Given the description of an element on the screen output the (x, y) to click on. 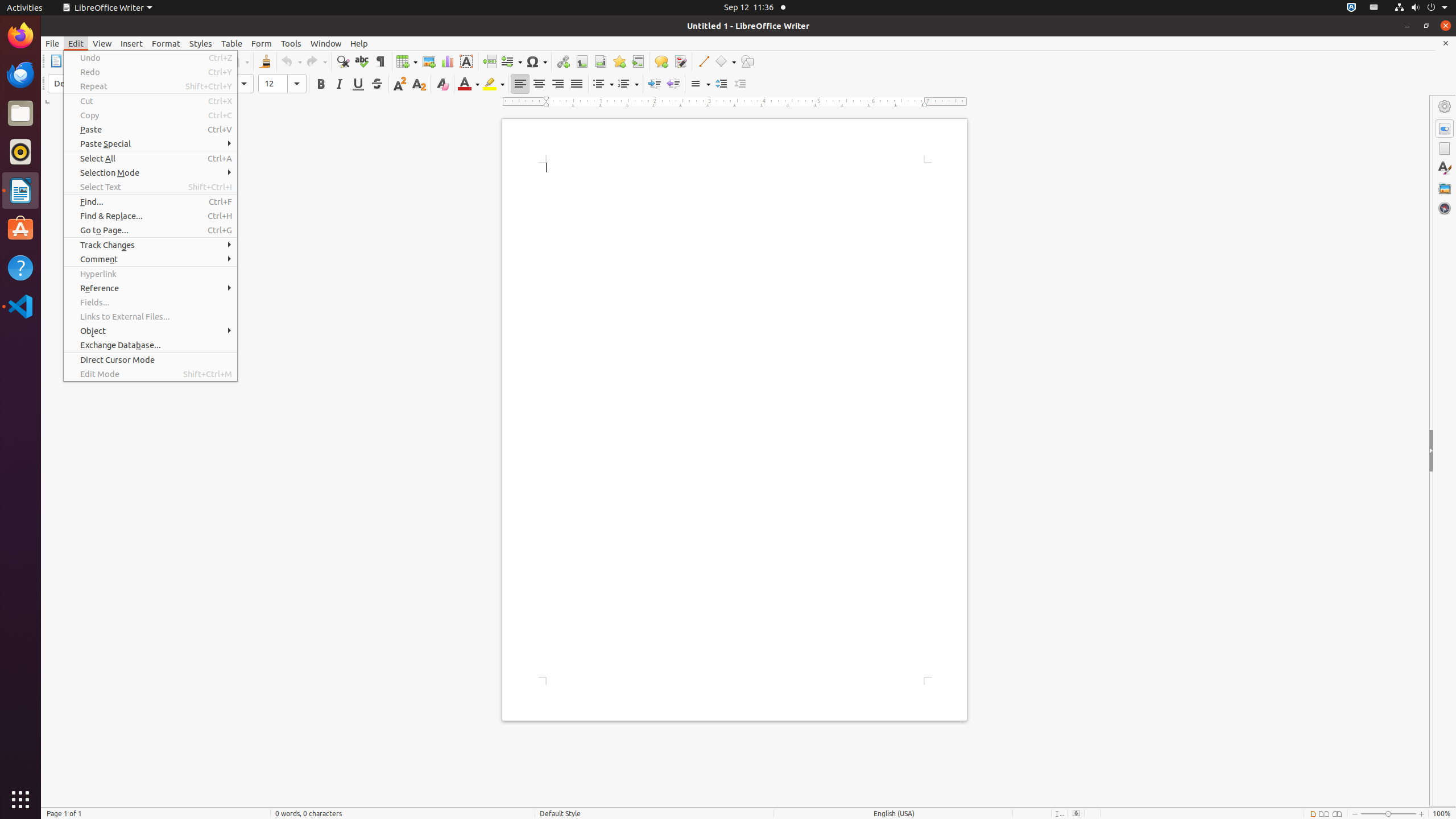
Help Element type: push-button (20, 267)
Right Element type: toggle-button (557, 83)
Thunderbird Mail Element type: push-button (20, 74)
Select Text Element type: menu-item (150, 186)
Text Box Element type: push-button (465, 61)
